Given the description of an element on the screen output the (x, y) to click on. 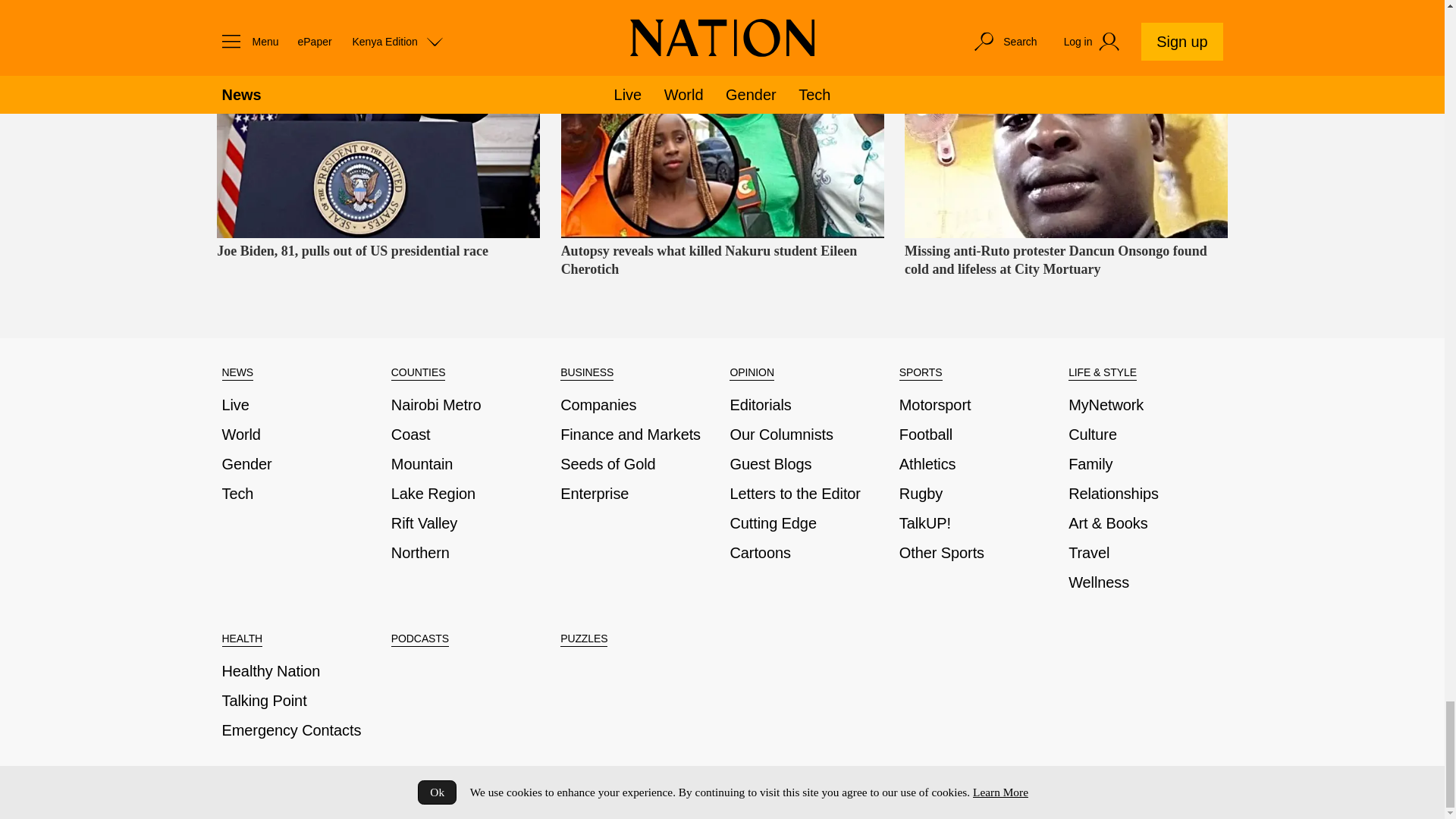
Joe Biden, 81, pulls out of US presidential race (378, 119)
